Given the description of an element on the screen output the (x, y) to click on. 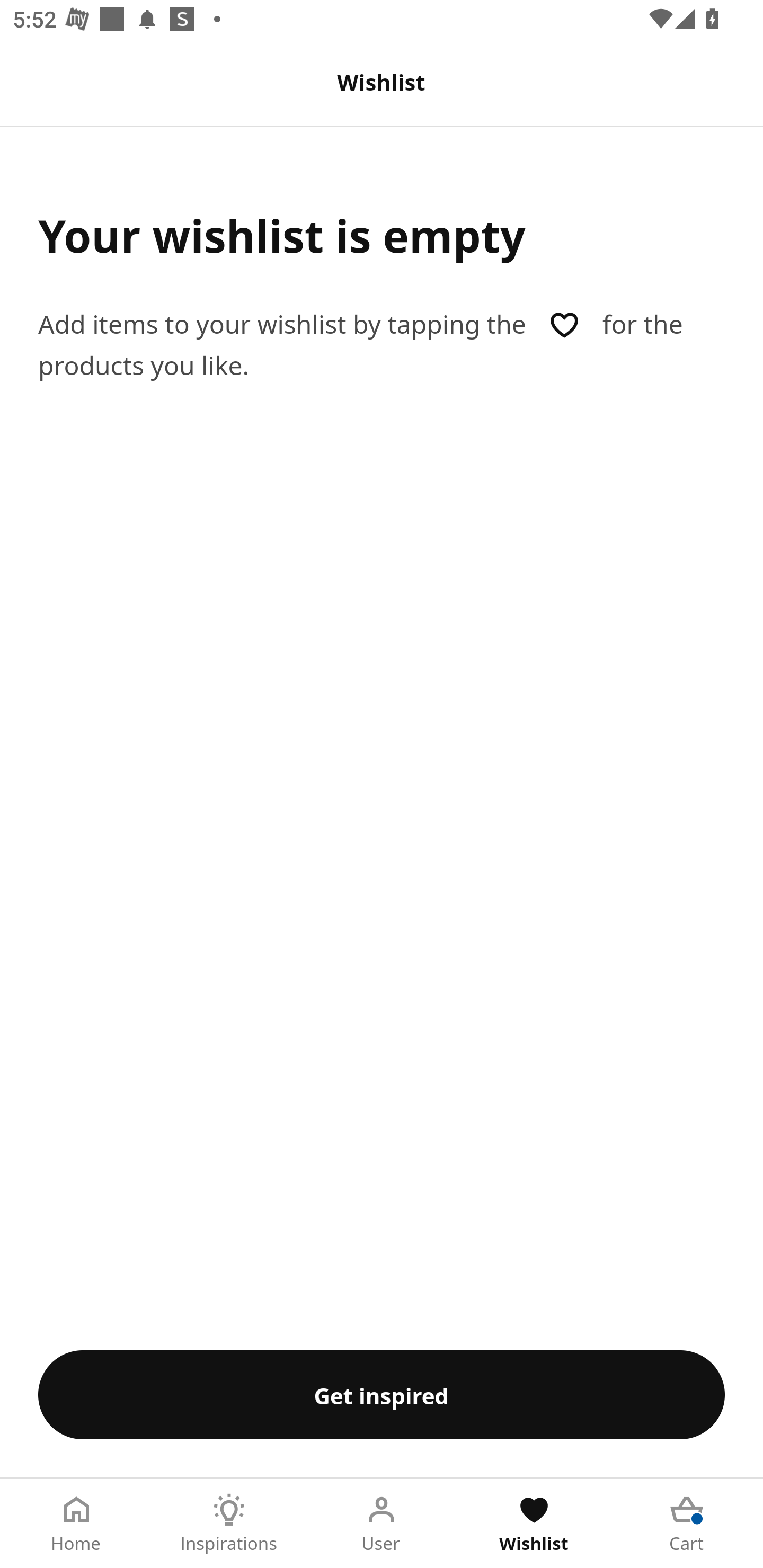
Get inspired (381, 1394)
Home
Tab 1 of 5 (76, 1522)
Inspirations
Tab 2 of 5 (228, 1522)
User
Tab 3 of 5 (381, 1522)
Wishlist
Tab 4 of 5 (533, 1522)
Cart
Tab 5 of 5 (686, 1522)
